Given the description of an element on the screen output the (x, y) to click on. 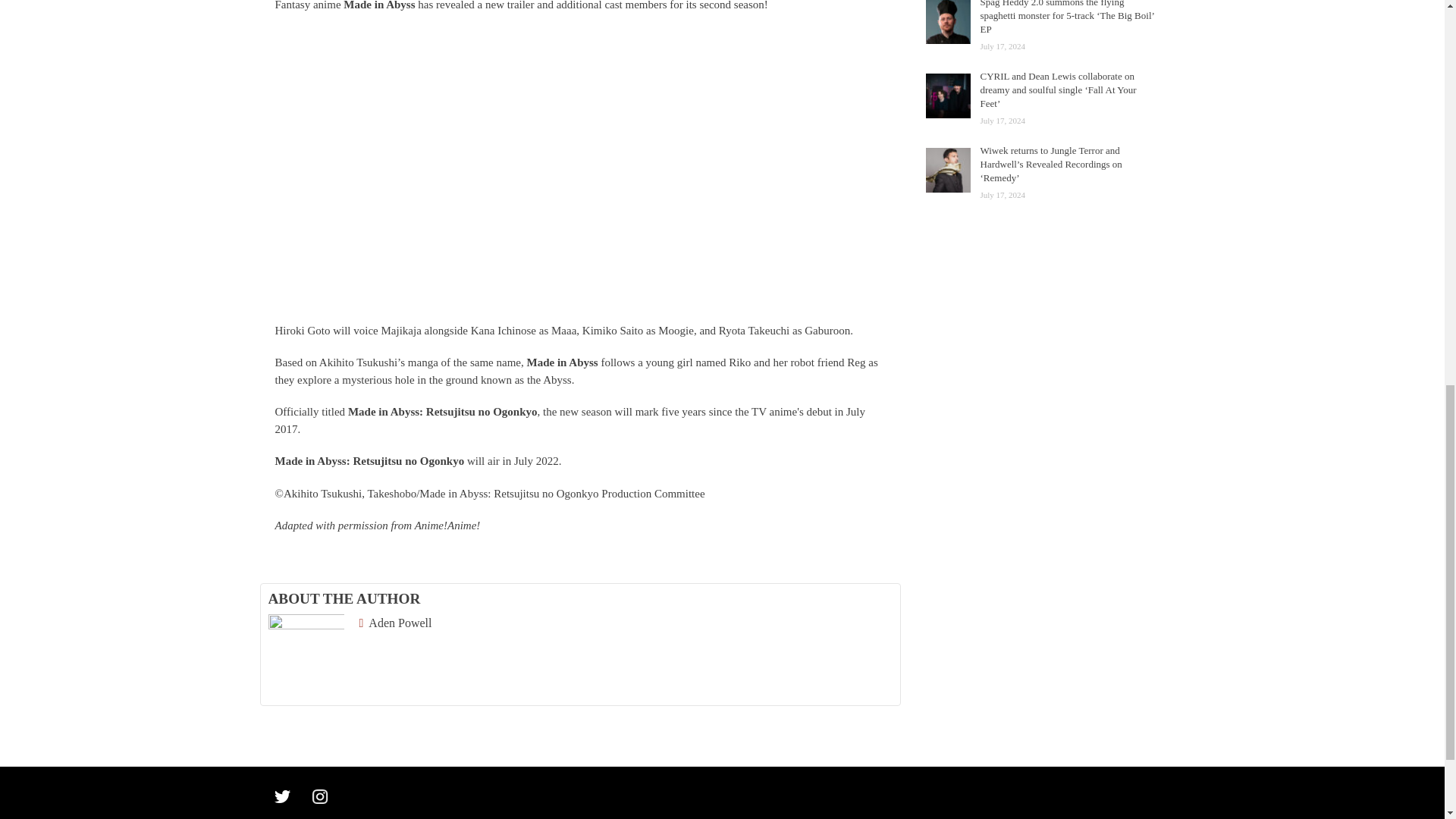
YouTube video player (517, 176)
Aden Powell (395, 622)
